Given the description of an element on the screen output the (x, y) to click on. 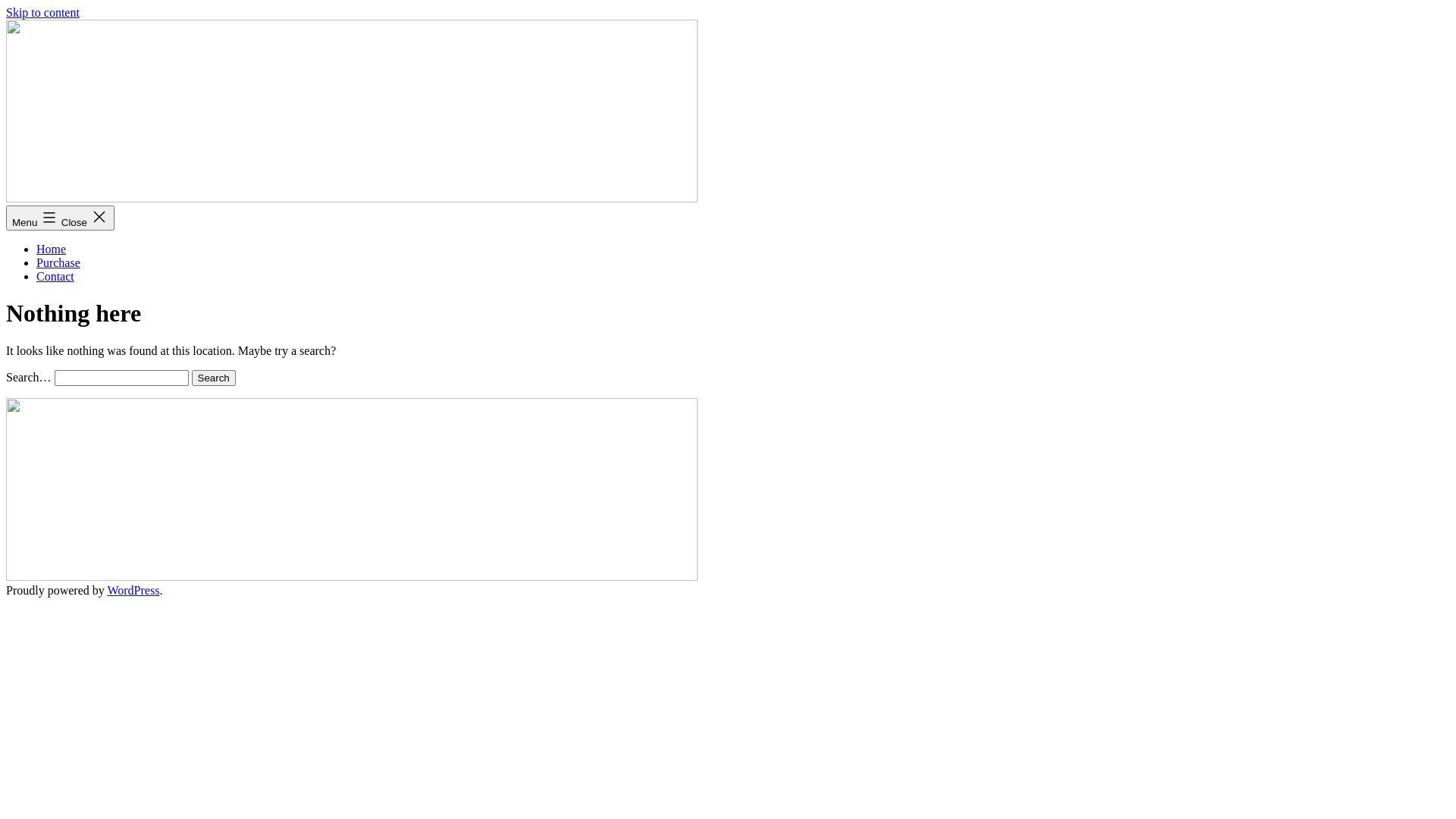
Home Element type: text (50, 248)
Contact Element type: text (55, 275)
Search Element type: text (213, 377)
Purchase Element type: text (58, 262)
WordPress Element type: text (132, 589)
Skip to content Element type: text (42, 12)
Menu Close Element type: text (60, 217)
